Given the description of an element on the screen output the (x, y) to click on. 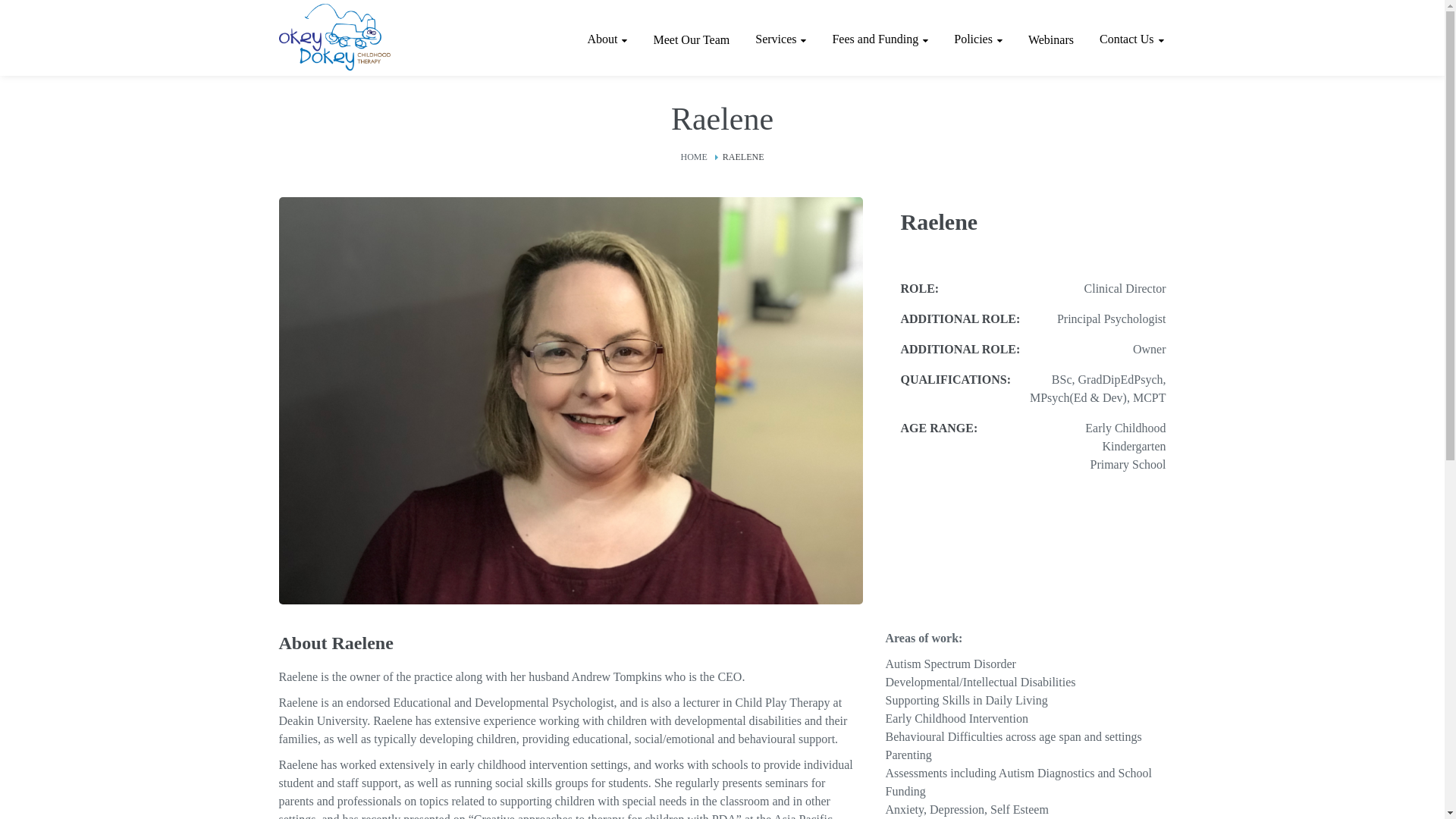
About Element type: text (606, 39)
Policies Element type: text (977, 39)
Services Element type: text (780, 39)
Meet Our Team Element type: text (690, 39)
HOME Element type: text (693, 156)
Webinars Element type: text (1050, 39)
Fees and Funding Element type: text (879, 39)
Contact Us Element type: text (1131, 39)
